Given the description of an element on the screen output the (x, y) to click on. 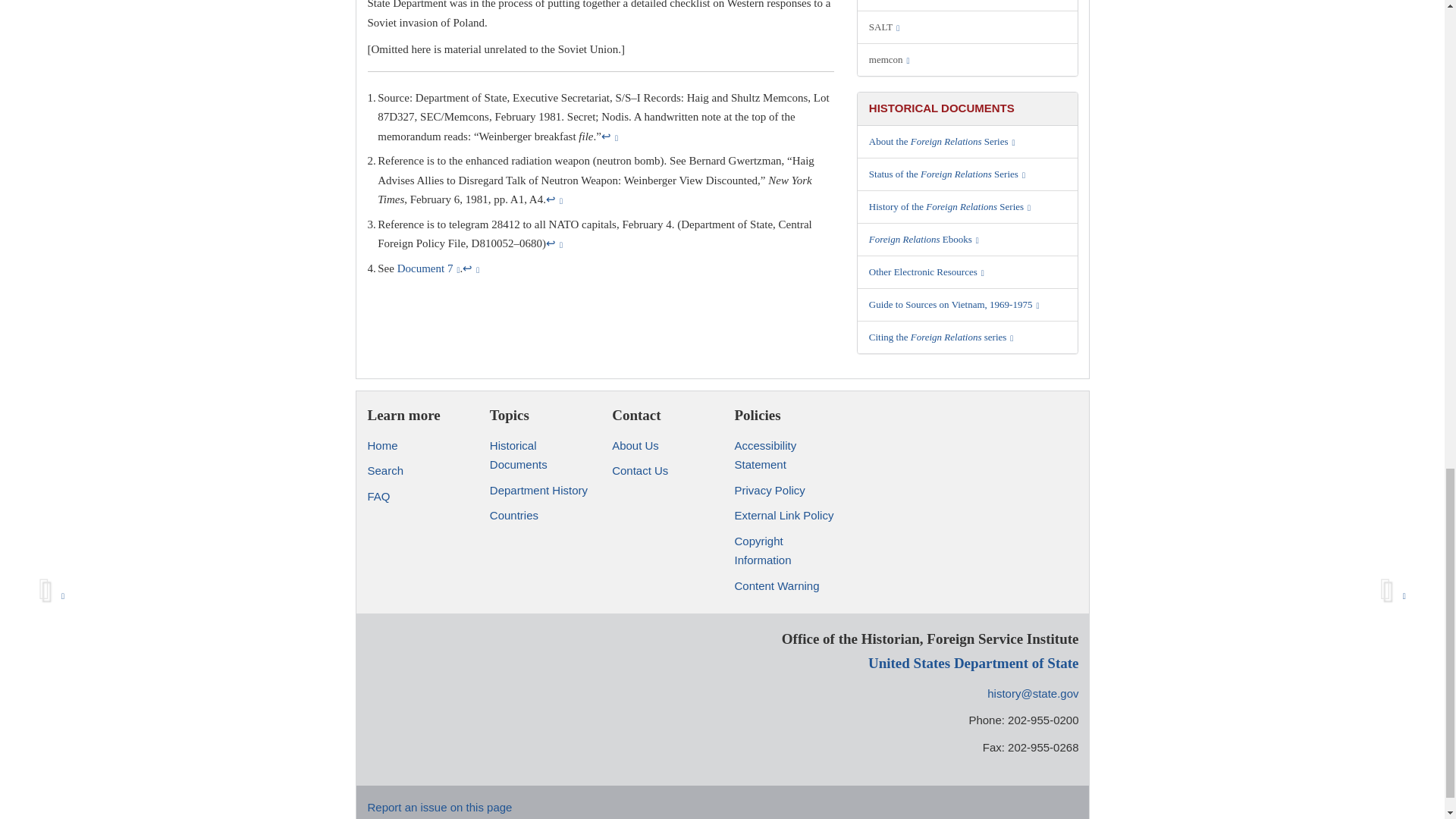
memorandum of conversation (967, 59)
Strategic Arms Limitation Talks (967, 27)
